Given the description of an element on the screen output the (x, y) to click on. 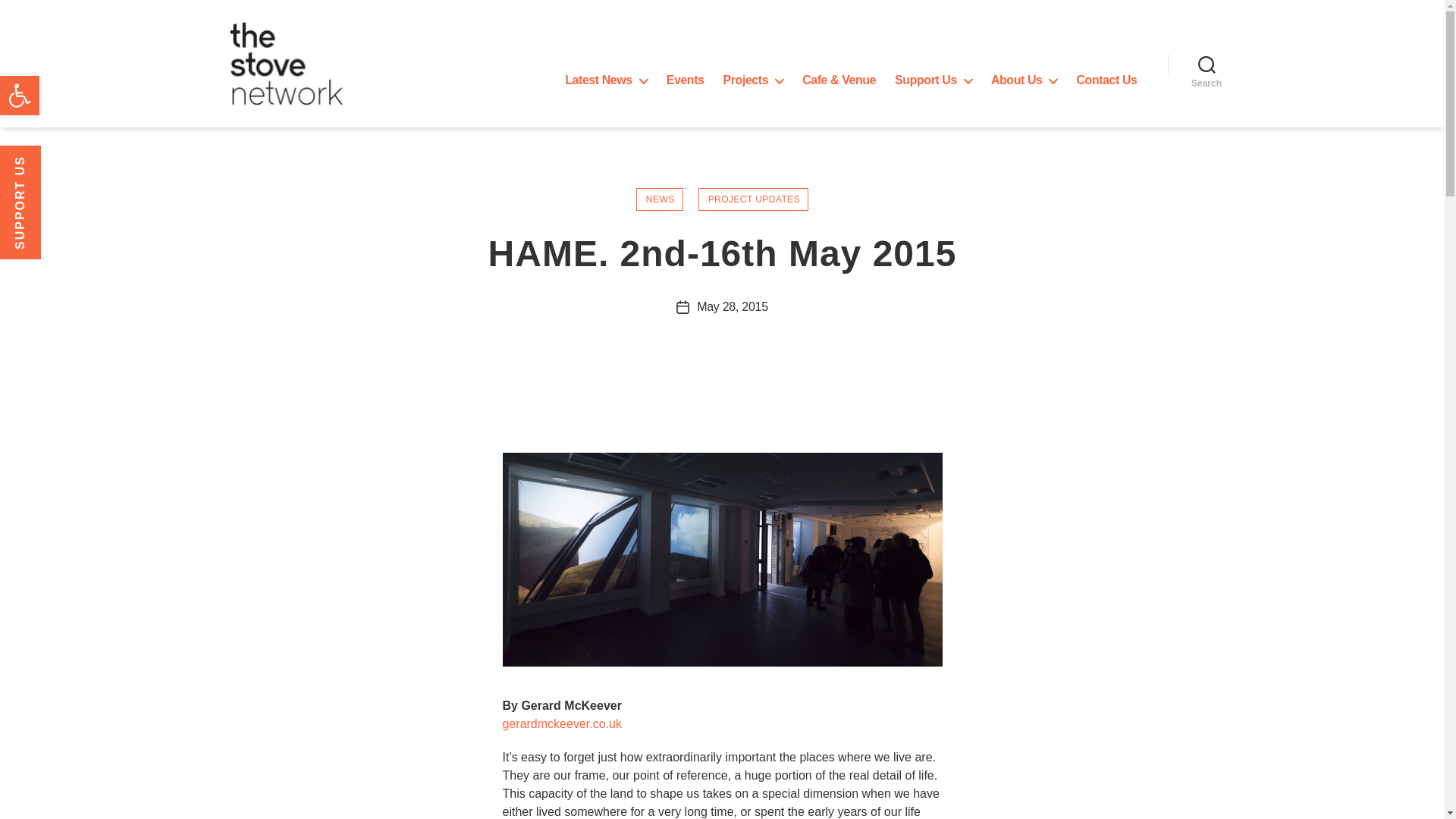
Support Us (933, 80)
Accessibility Tools (19, 95)
Events (685, 80)
Latest News (605, 80)
Open toolbar (19, 95)
SUPPORT US (56, 165)
Projects (753, 80)
